Given the description of an element on the screen output the (x, y) to click on. 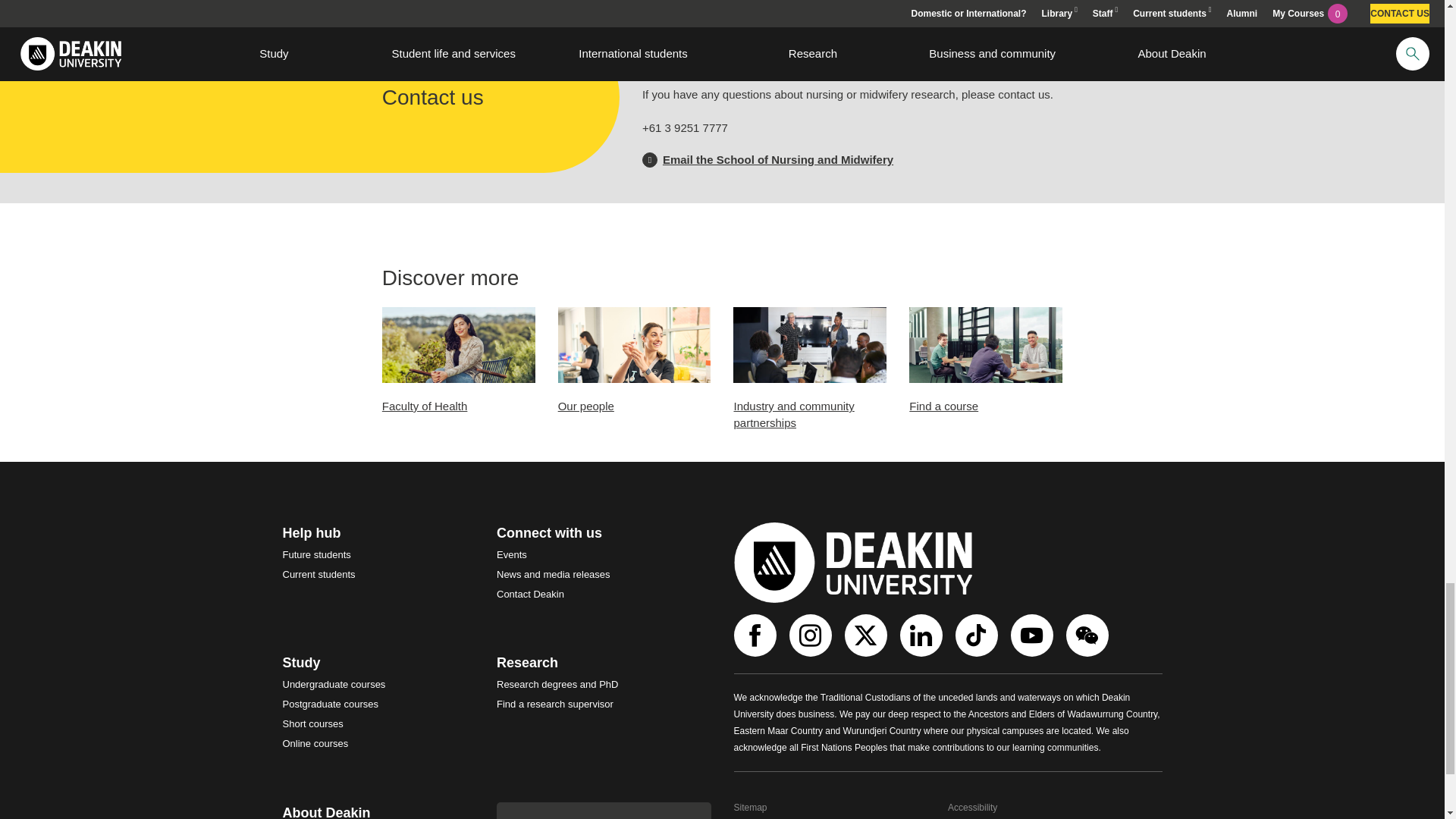
Twitter (867, 635)
Youtube (1033, 635)
Facebook (756, 635)
TikTok (978, 635)
Instagram (811, 635)
Linkedin (921, 635)
